Given the description of an element on the screen output the (x, y) to click on. 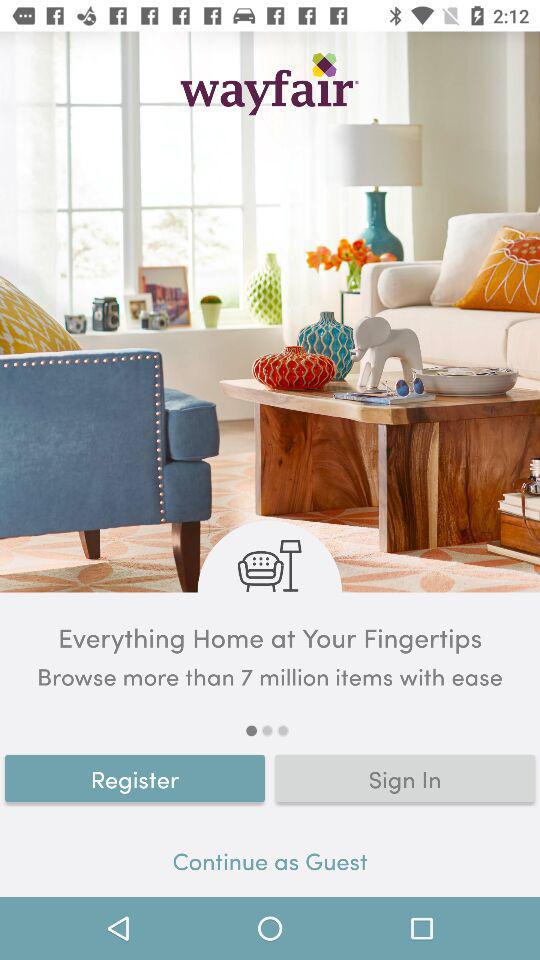
turn on item to the right of register (405, 778)
